Given the description of an element on the screen output the (x, y) to click on. 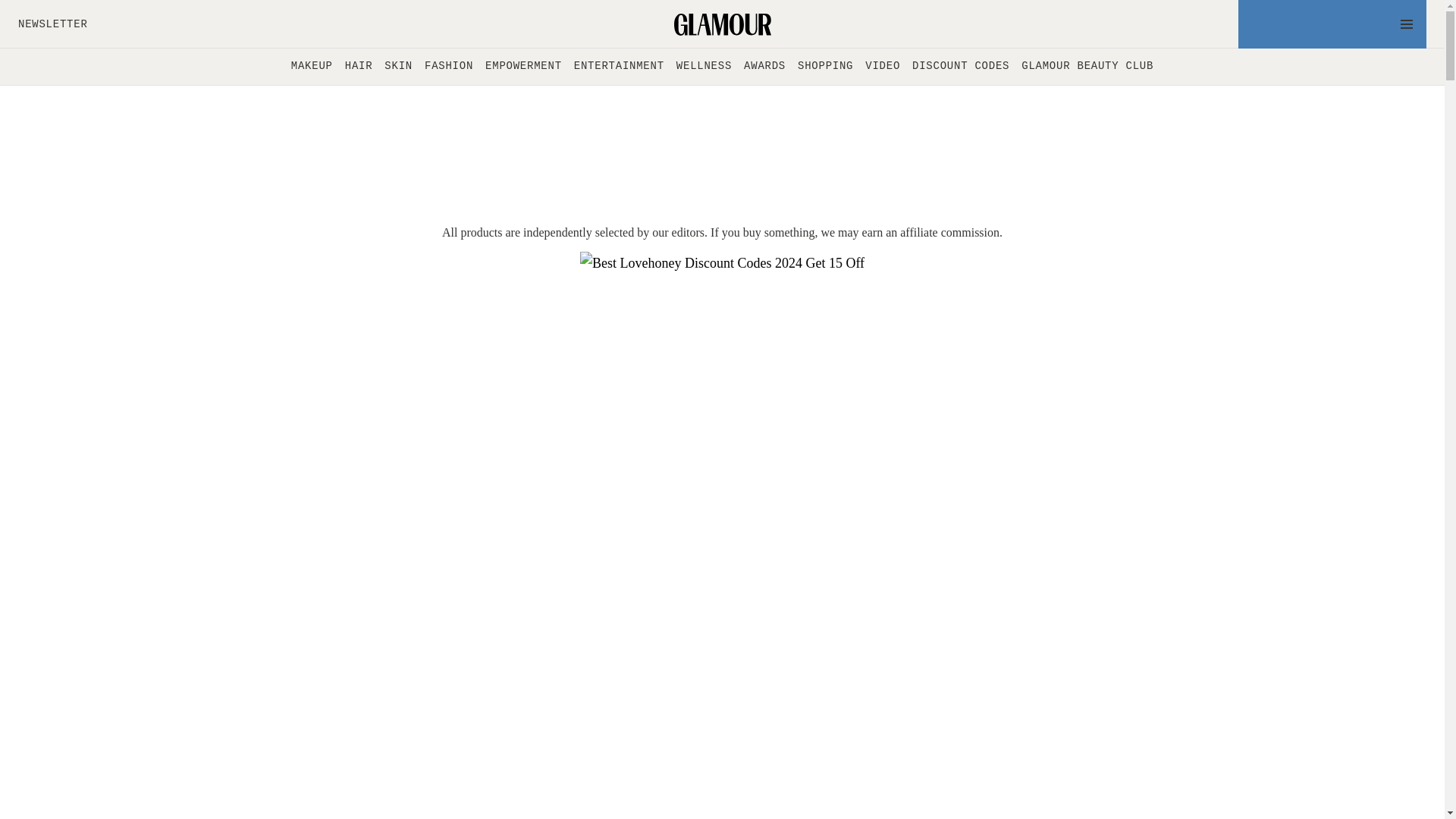
NEWSLETTER (52, 24)
VIDEO (881, 65)
OPEN NAVIGATION MENU (1332, 24)
SHOPPING (825, 65)
HAIR (358, 65)
WELLNESS (704, 65)
DISCOUNT CODES (960, 65)
SKIN (398, 65)
GLAMOUR BEAUTY CLUB (1087, 65)
AWARDS (765, 65)
EMPOWERMENT (523, 65)
MAKEUP (312, 65)
FASHION (449, 65)
ENTERTAINMENT (618, 65)
